Given the description of an element on the screen output the (x, y) to click on. 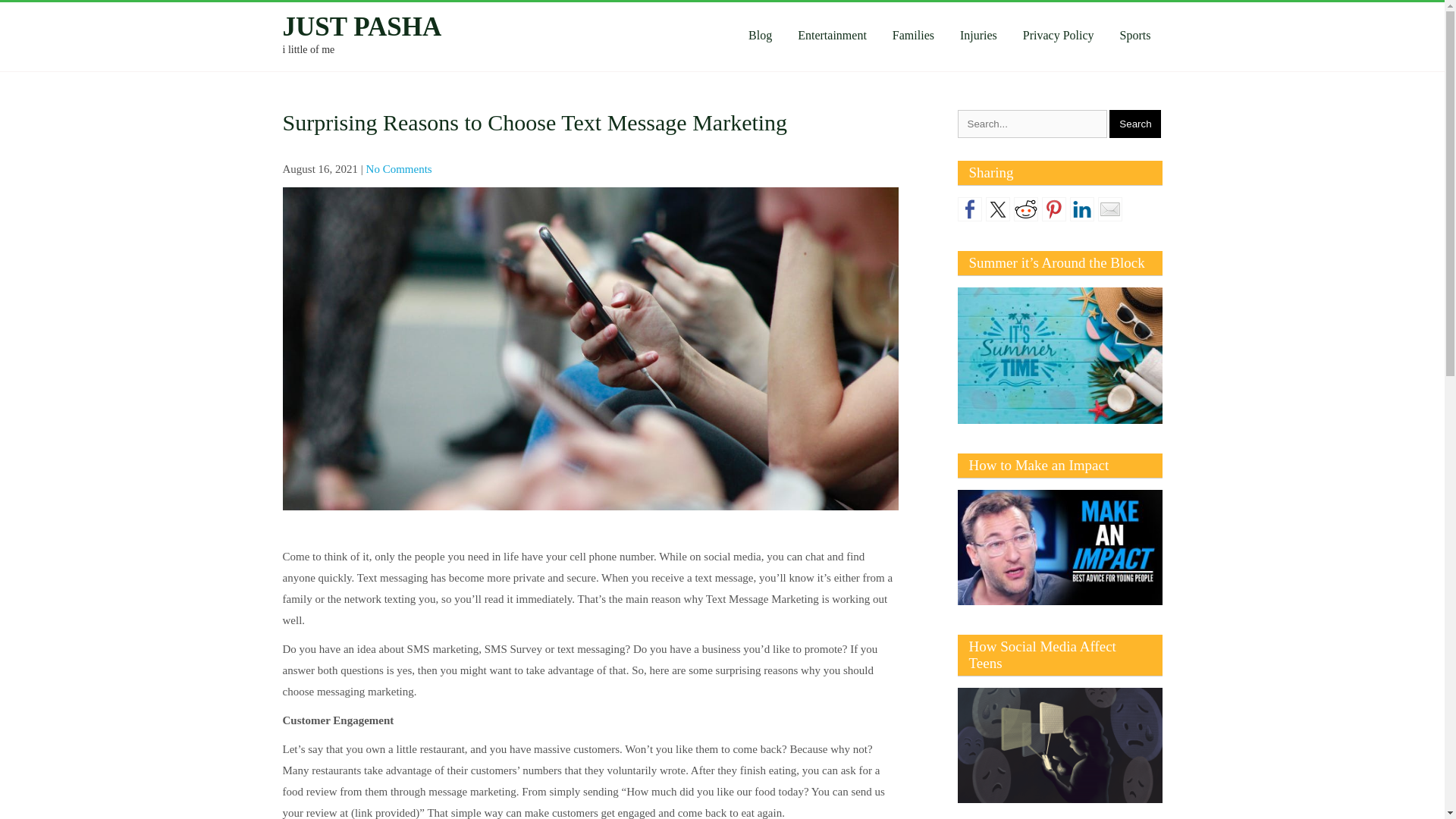
Blog (759, 35)
Search (1134, 123)
Entertainment (831, 35)
Privacy Policy (1058, 35)
Pin it with Pinterest (1053, 209)
Families (912, 35)
Injuries (979, 35)
Share on Facebook (968, 209)
No Comments (399, 168)
Share on Linkedin (1080, 209)
Share by email (1109, 209)
Sports (1134, 35)
Share on Twitter (997, 209)
JUST PASHA (361, 26)
Search (1134, 123)
